Given the description of an element on the screen output the (x, y) to click on. 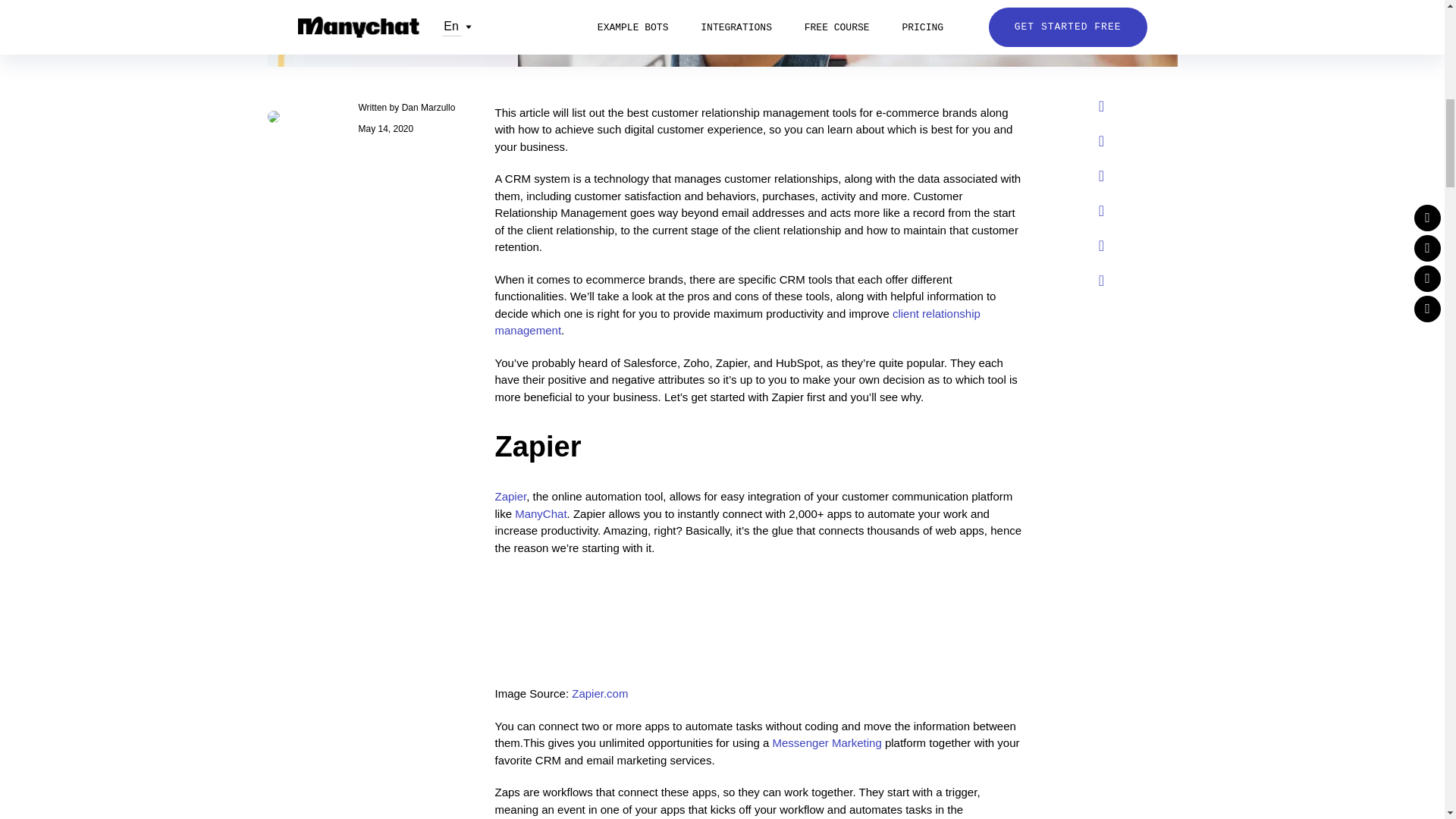
Zapier.com (599, 693)
Messenger Marketing (827, 742)
Zapier (510, 495)
client relationship management (737, 321)
ManyChat (540, 512)
Dan Marzullo (428, 106)
